Given the description of an element on the screen output the (x, y) to click on. 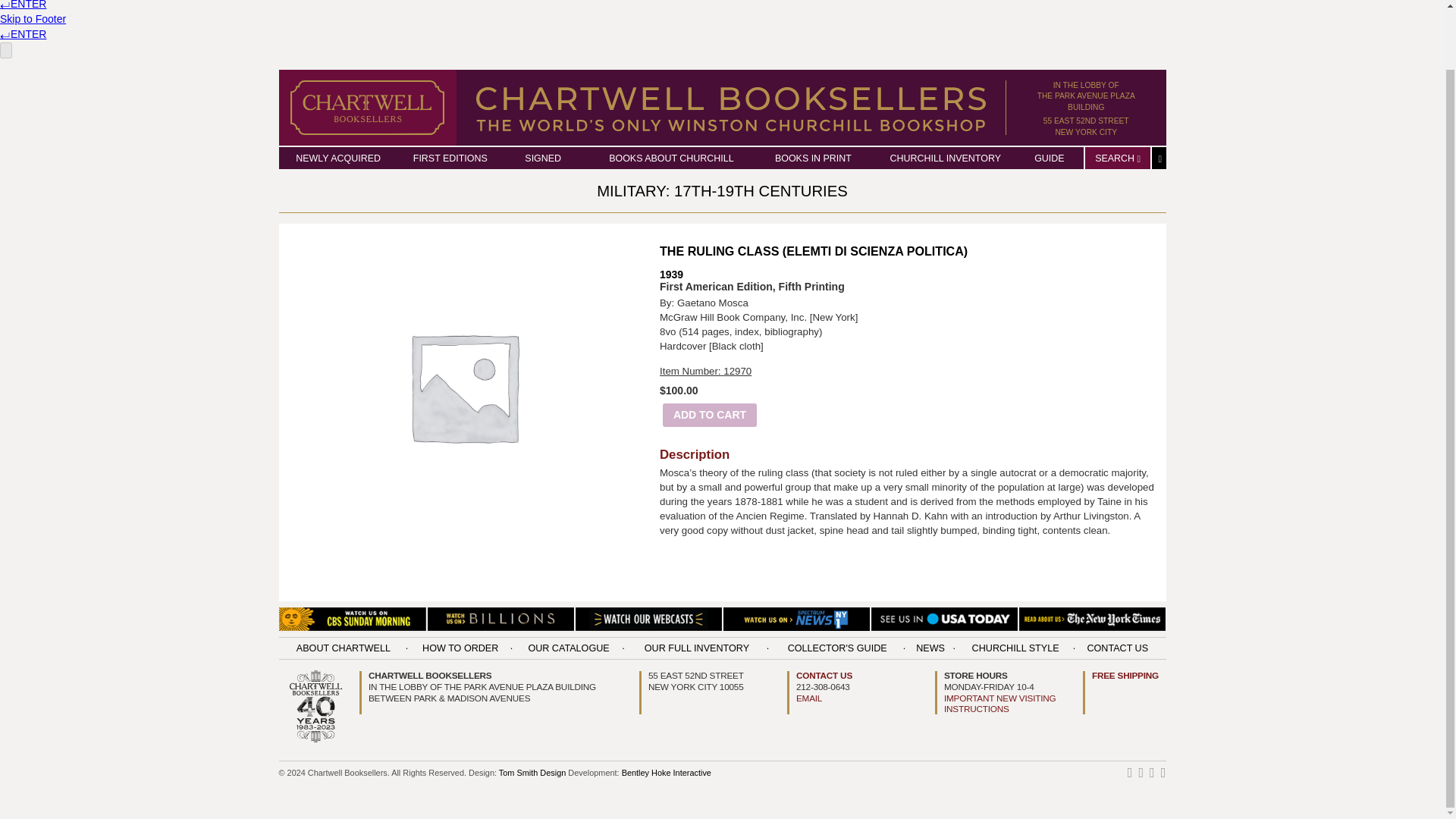
FIRST EDITIONS (450, 158)
SIGNED (542, 158)
GUIDE (1048, 158)
SEARCH (1117, 158)
BOOKS ABOUT CHURCHILL (670, 158)
ADD TO CART (709, 414)
BOOKS IN PRINT (812, 158)
CHURCHILL INVENTORY (944, 158)
MILITARY: 17TH-19TH CENTURIES (1085, 96)
NEWLY ACQUIRED (721, 190)
